Given the description of an element on the screen output the (x, y) to click on. 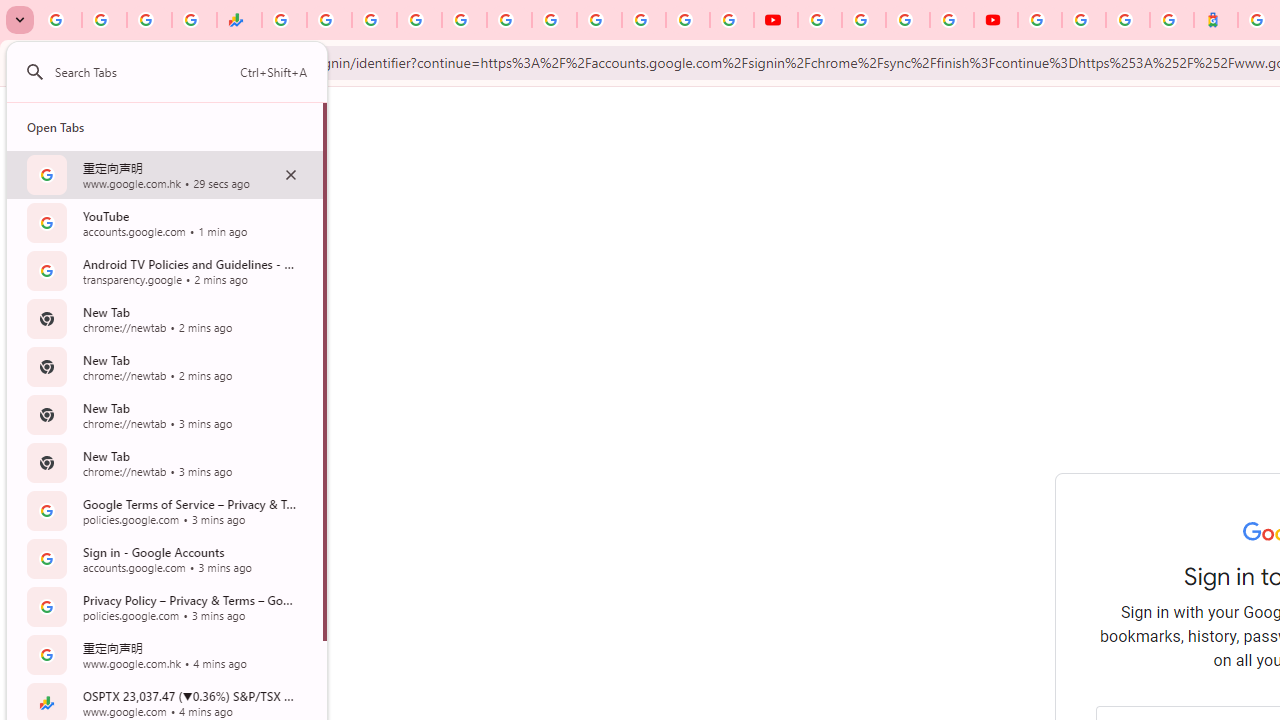
New Tab newtab 3 mins ago Open Tab (164, 462)
Search Tabs Ctrl+Shift+A Found 60 Tabs (181, 71)
Sign in - Google Accounts (1083, 20)
Privacy Checkup (731, 20)
Content Creator Programs & Opportunities - YouTube Creators (995, 20)
Sign in - Google Accounts (643, 20)
Sign in - Google Accounts (1039, 20)
YouTube accounts.google.com 1 min ago Open Tab (164, 222)
